Given the description of an element on the screen output the (x, y) to click on. 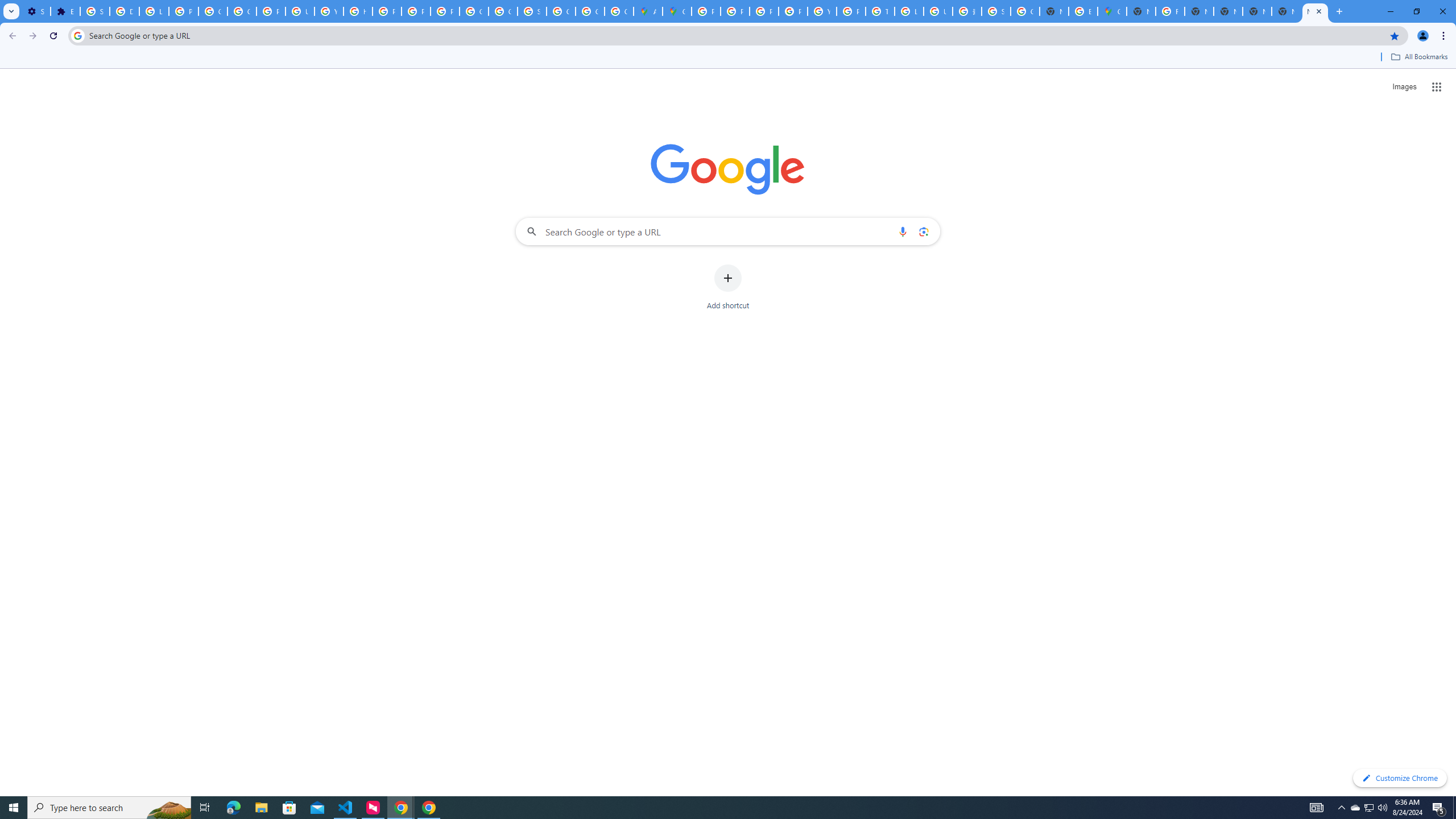
Customize Chrome (1399, 778)
Sign in - Google Accounts (531, 11)
Privacy Help Center - Policies Help (763, 11)
Create your Google Account (619, 11)
YouTube (327, 11)
Google Maps (677, 11)
